Given the description of an element on the screen output the (x, y) to click on. 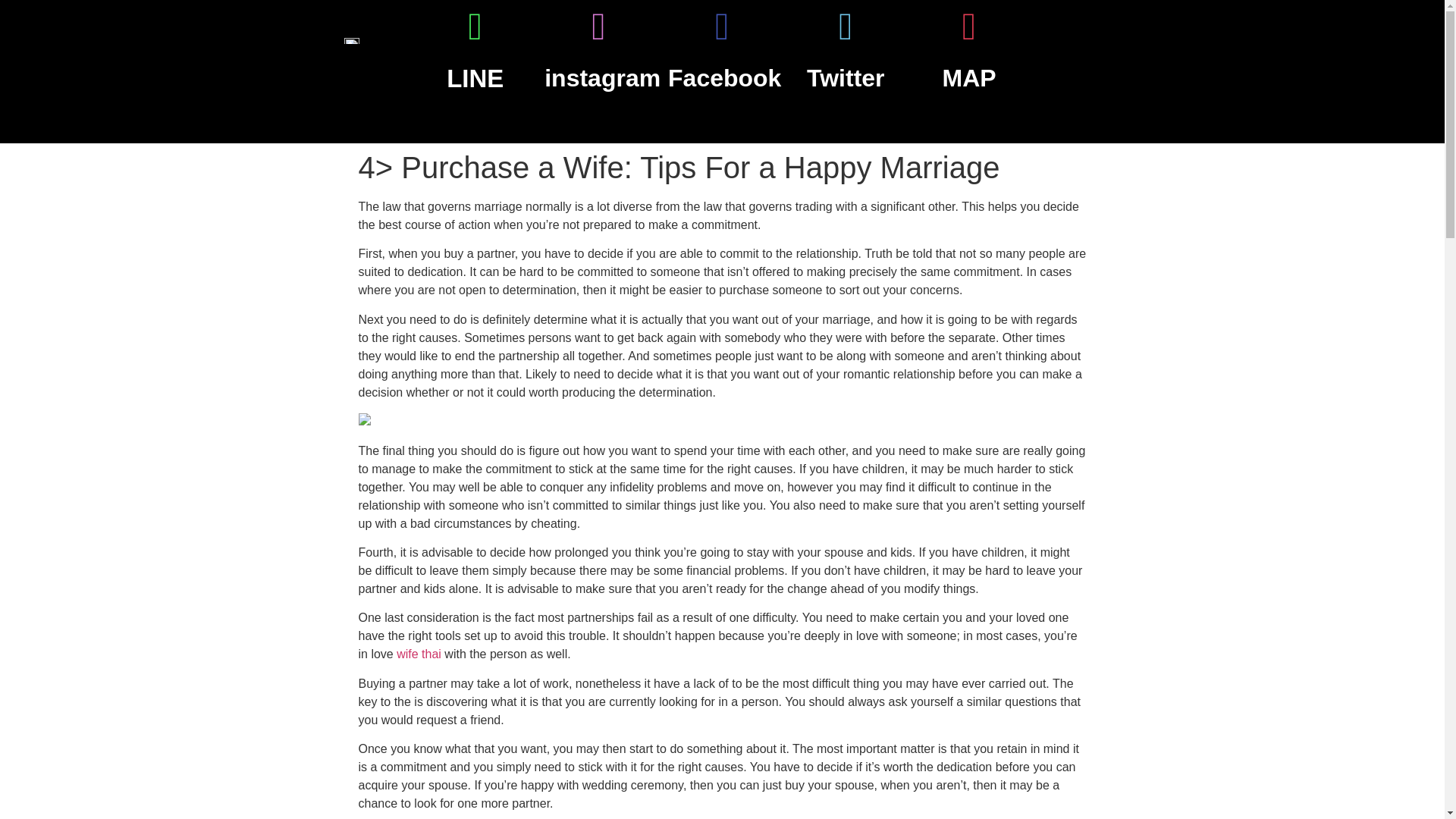
wife thai (418, 653)
MAP (968, 77)
Twitter (845, 77)
LINE (474, 78)
instagram (602, 77)
Facebook (724, 77)
